Given the description of an element on the screen output the (x, y) to click on. 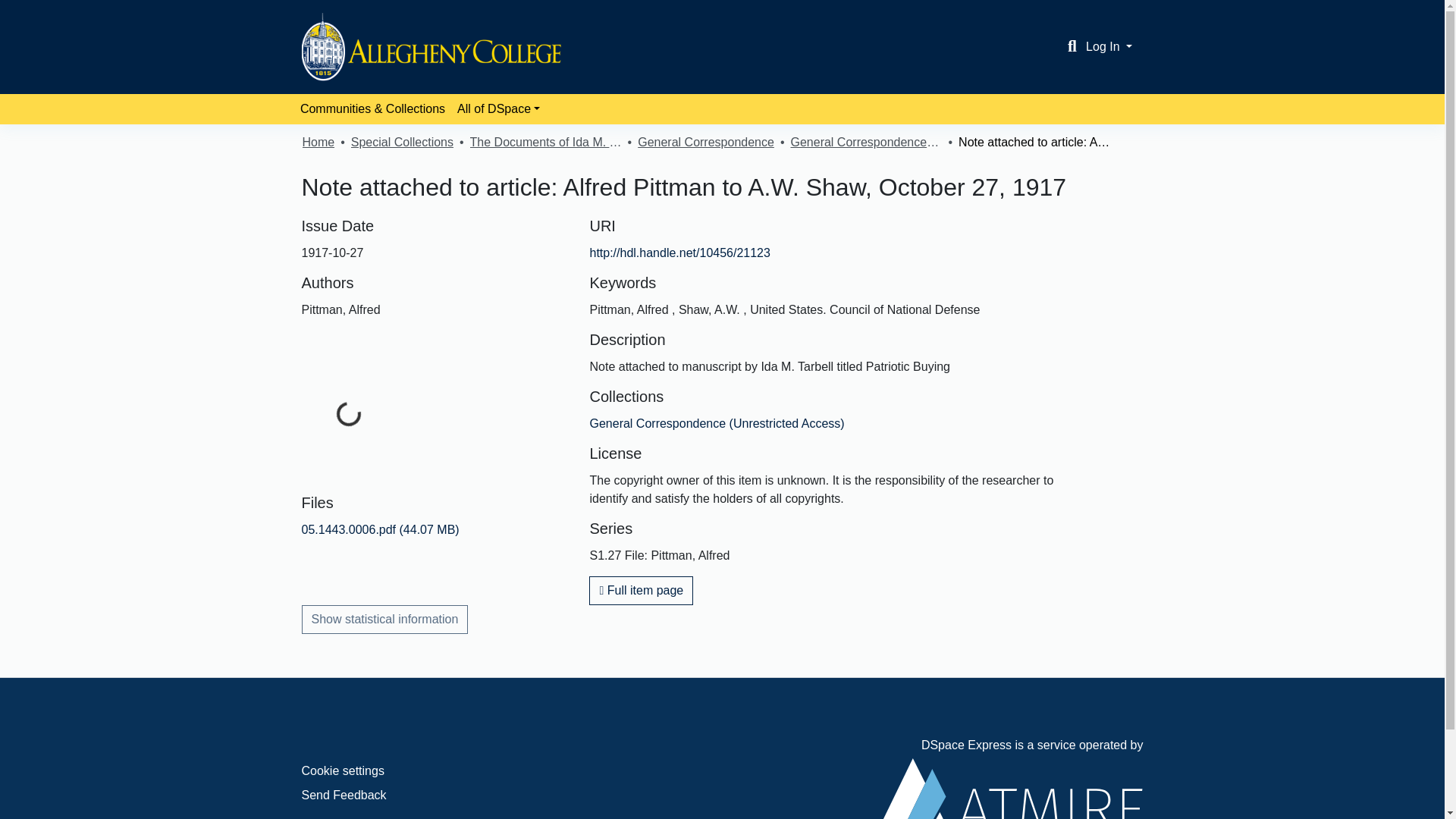
All of DSpace (498, 109)
Full item page (641, 590)
Home (317, 142)
Search (1072, 46)
Log In (1108, 46)
Cookie settings (342, 770)
DSpace Express is a service operated by (1009, 778)
Show statistical information (384, 619)
Send Feedback (344, 794)
General Correspondence (705, 142)
The Documents of Ida M. Tarbell (545, 142)
Special Collections (401, 142)
